Given the description of an element on the screen output the (x, y) to click on. 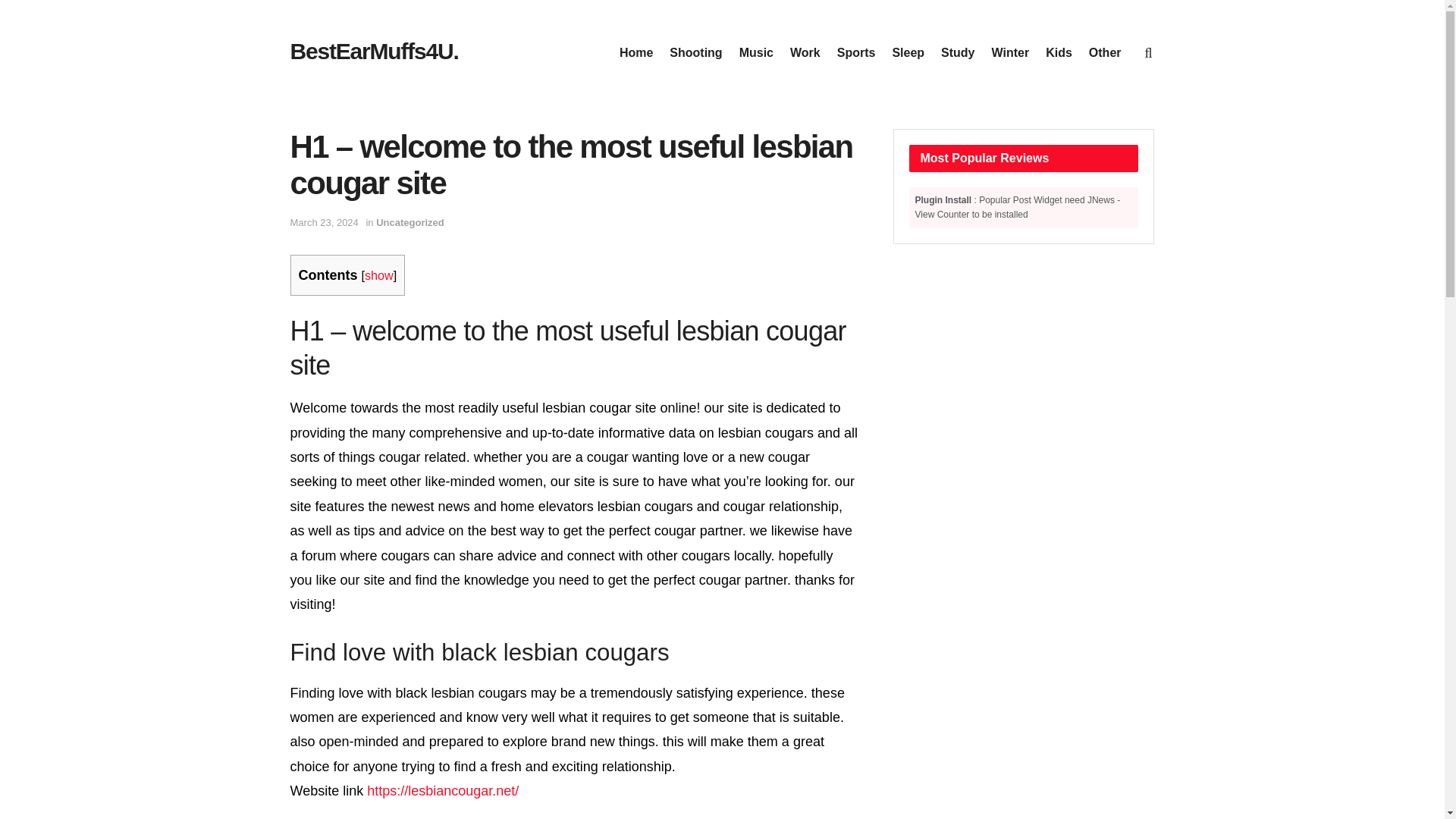
Shooting (695, 53)
Sports (856, 53)
Music (756, 53)
show (379, 274)
Winter (1010, 53)
Uncategorized (409, 222)
BestEarMuffs4U. (373, 52)
March 23, 2024 (323, 222)
